Given the description of an element on the screen output the (x, y) to click on. 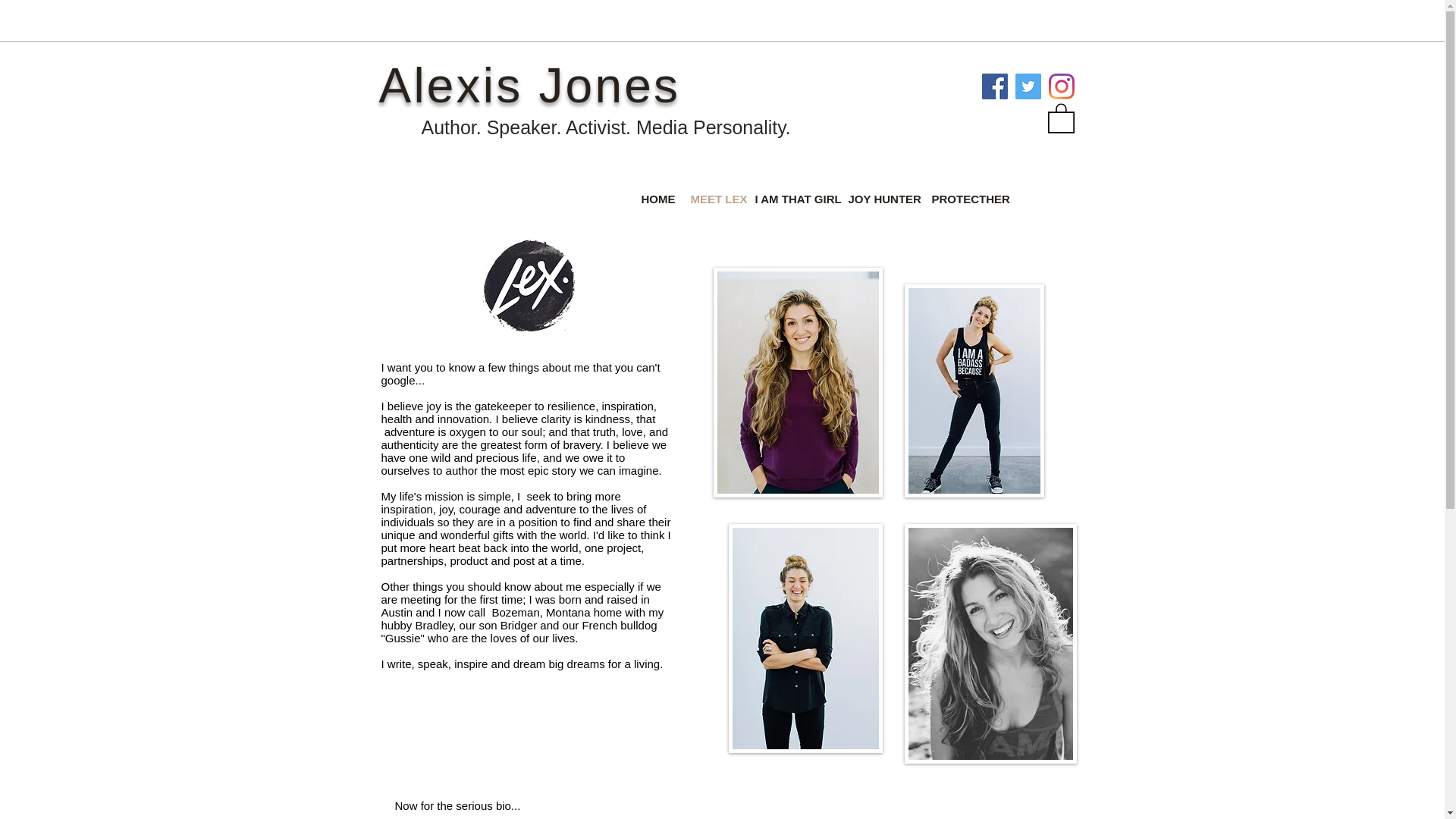
PROTECTHER (967, 196)
JOY HUNTER (881, 196)
I AM THAT GIRL (794, 196)
MEET LEX (714, 196)
HOME (656, 196)
